Given the description of an element on the screen output the (x, y) to click on. 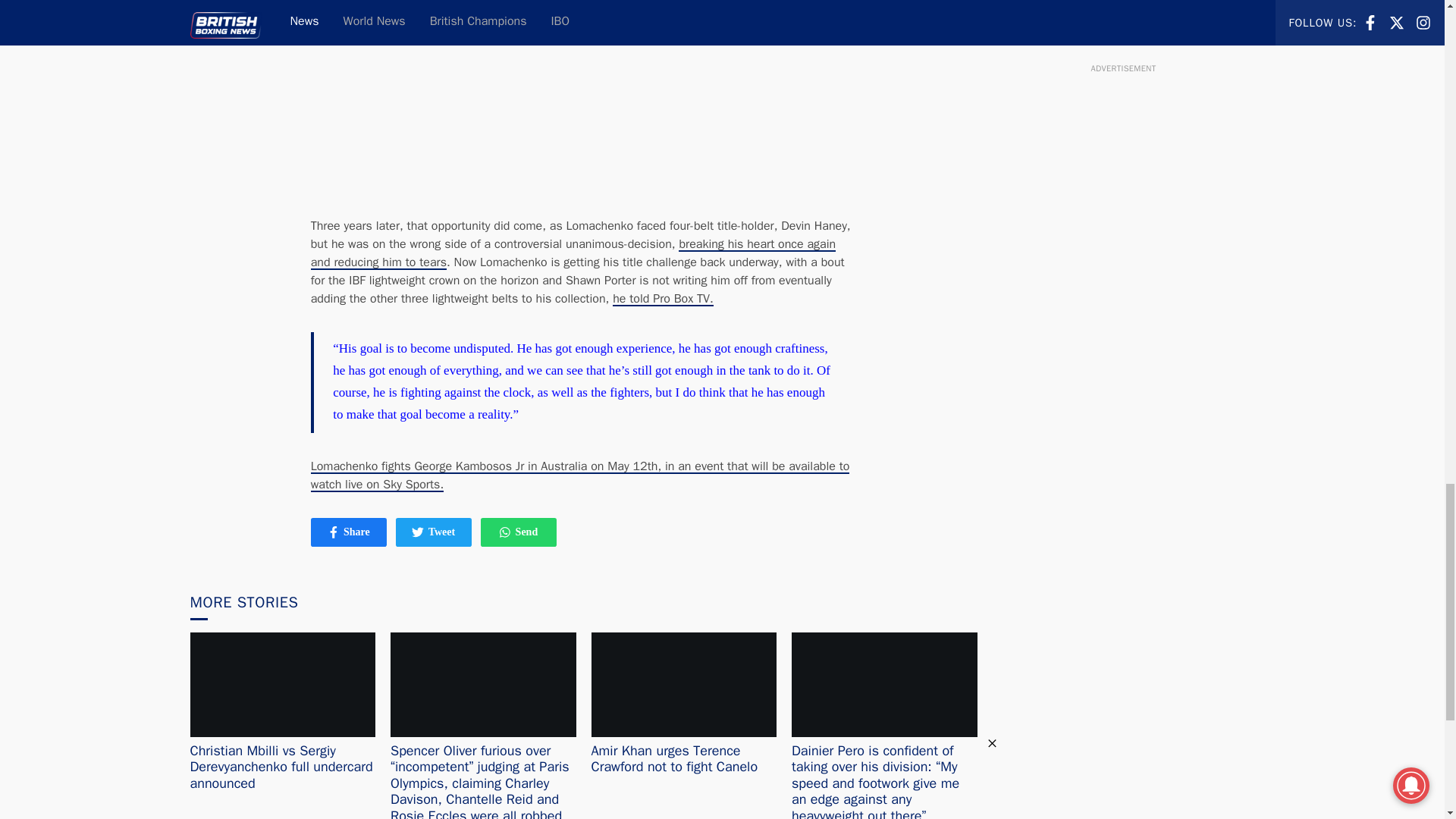
breaking his heart once again and reducing him to tears (518, 531)
Twitter (573, 253)
he told Pro Box TV. (349, 531)
Amir Khan urges Terence Crawford not to fight Canelo (417, 532)
Facebook (433, 531)
WhatsApp (662, 298)
